Given the description of an element on the screen output the (x, y) to click on. 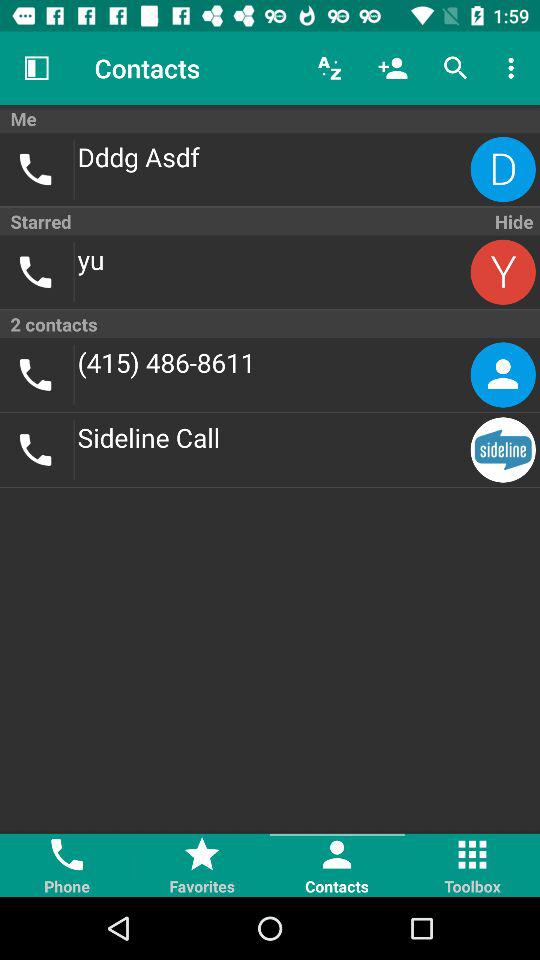
flip to the hide (512, 221)
